Given the description of an element on the screen output the (x, y) to click on. 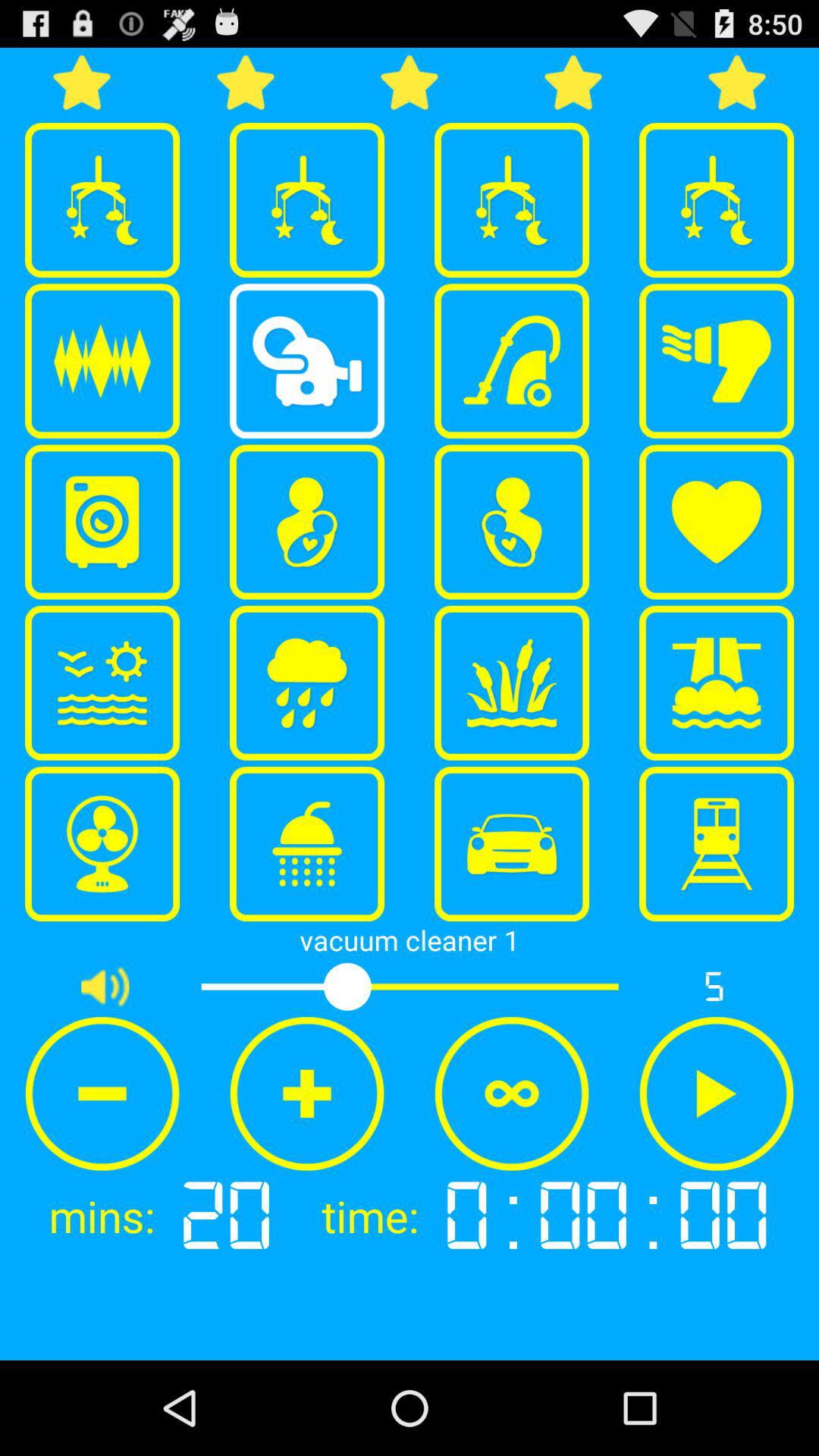
turn off the item above vacuum cleaner 1 (306, 843)
